Given the description of an element on the screen output the (x, y) to click on. 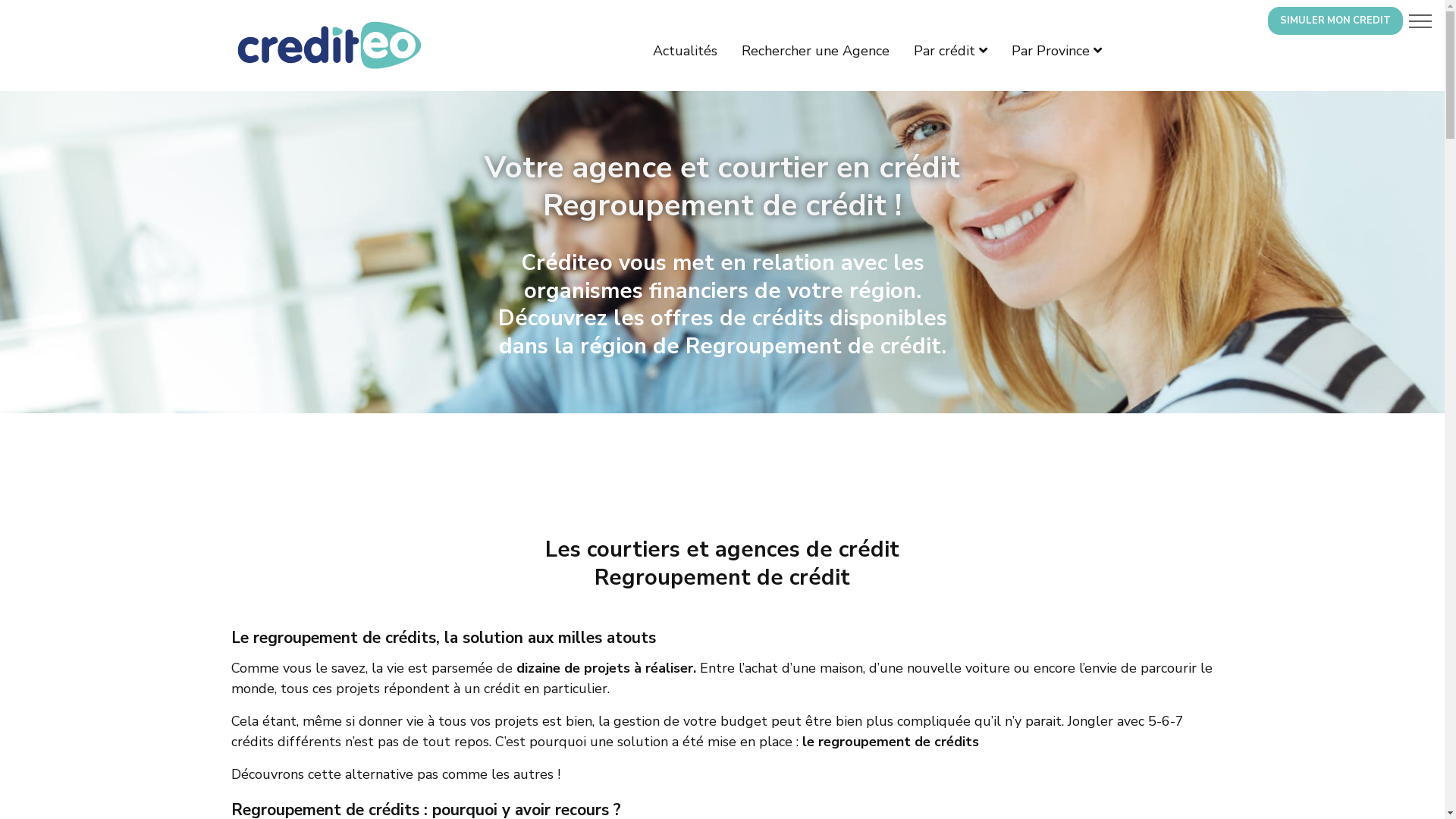
Par Province Element type: text (1056, 50)
SIMULER MON CREDIT Element type: text (1334, 20)
Rechercher une Agence Element type: text (815, 50)
